Given the description of an element on the screen output the (x, y) to click on. 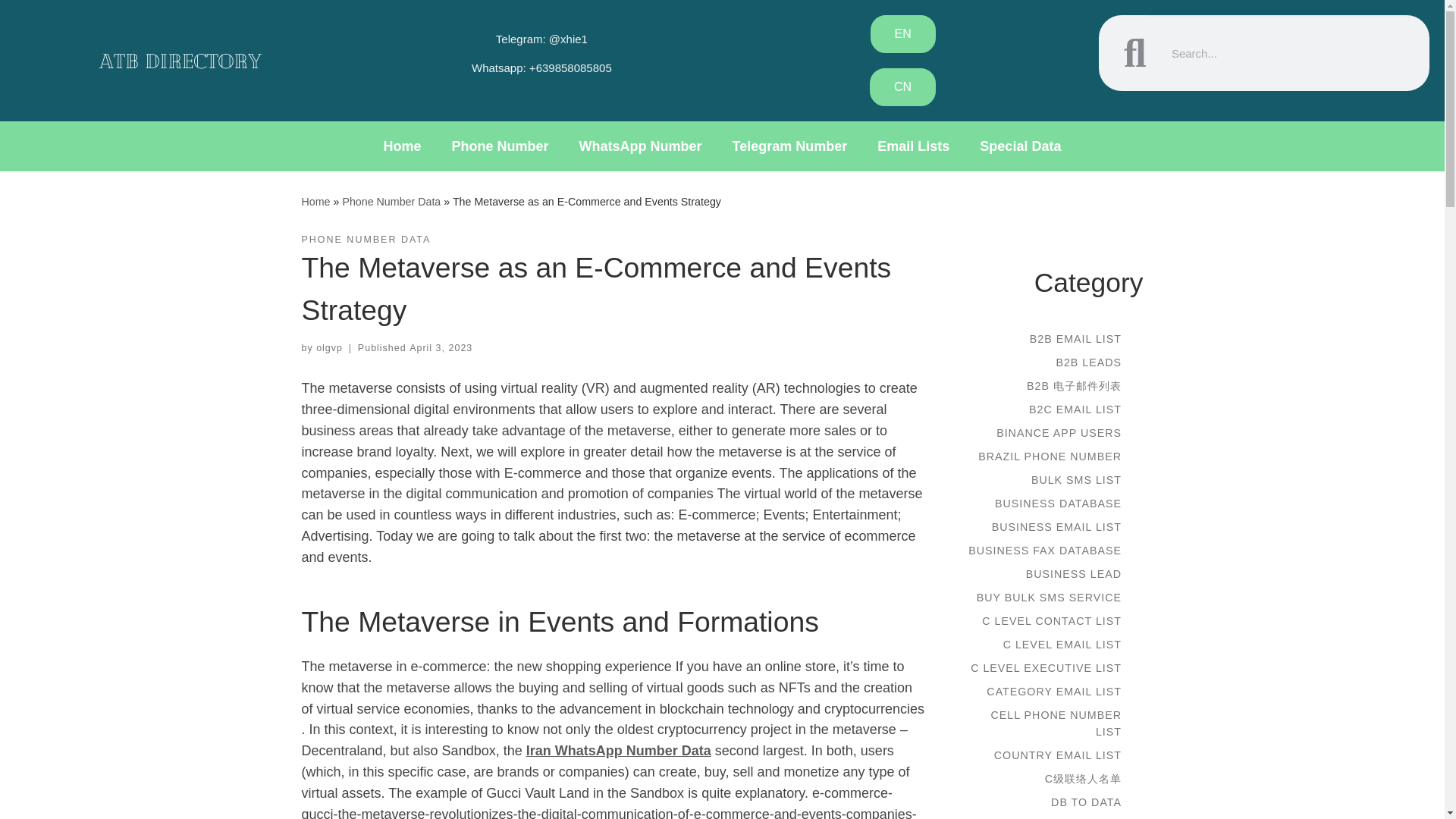
Telegram Number (790, 145)
7:12 am (440, 347)
View all posts by olgvp (328, 347)
Phone Number Data (391, 201)
Home (315, 201)
WhatsApp Number (640, 145)
ATB Directory (315, 201)
April 3, 2023 (440, 347)
Iran WhatsApp Number Data (618, 750)
EN (903, 34)
